Given the description of an element on the screen output the (x, y) to click on. 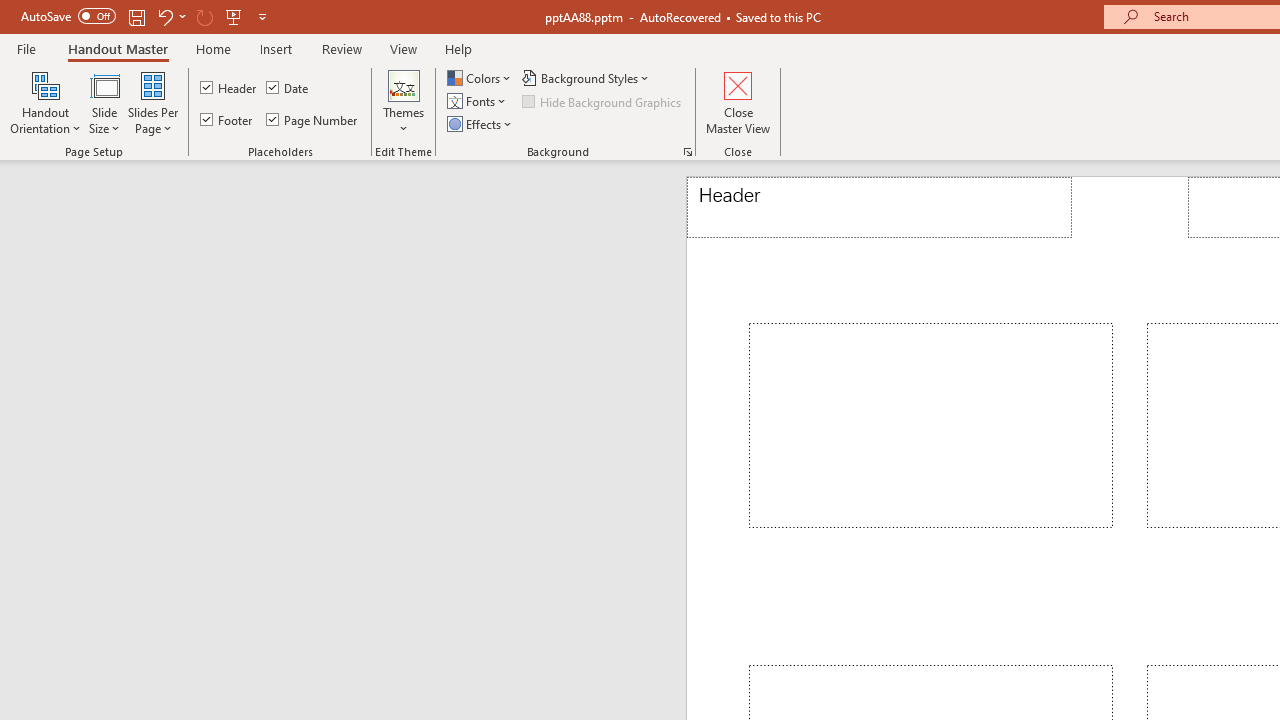
Colors (481, 78)
Page Number (312, 119)
